Given the description of an element on the screen output the (x, y) to click on. 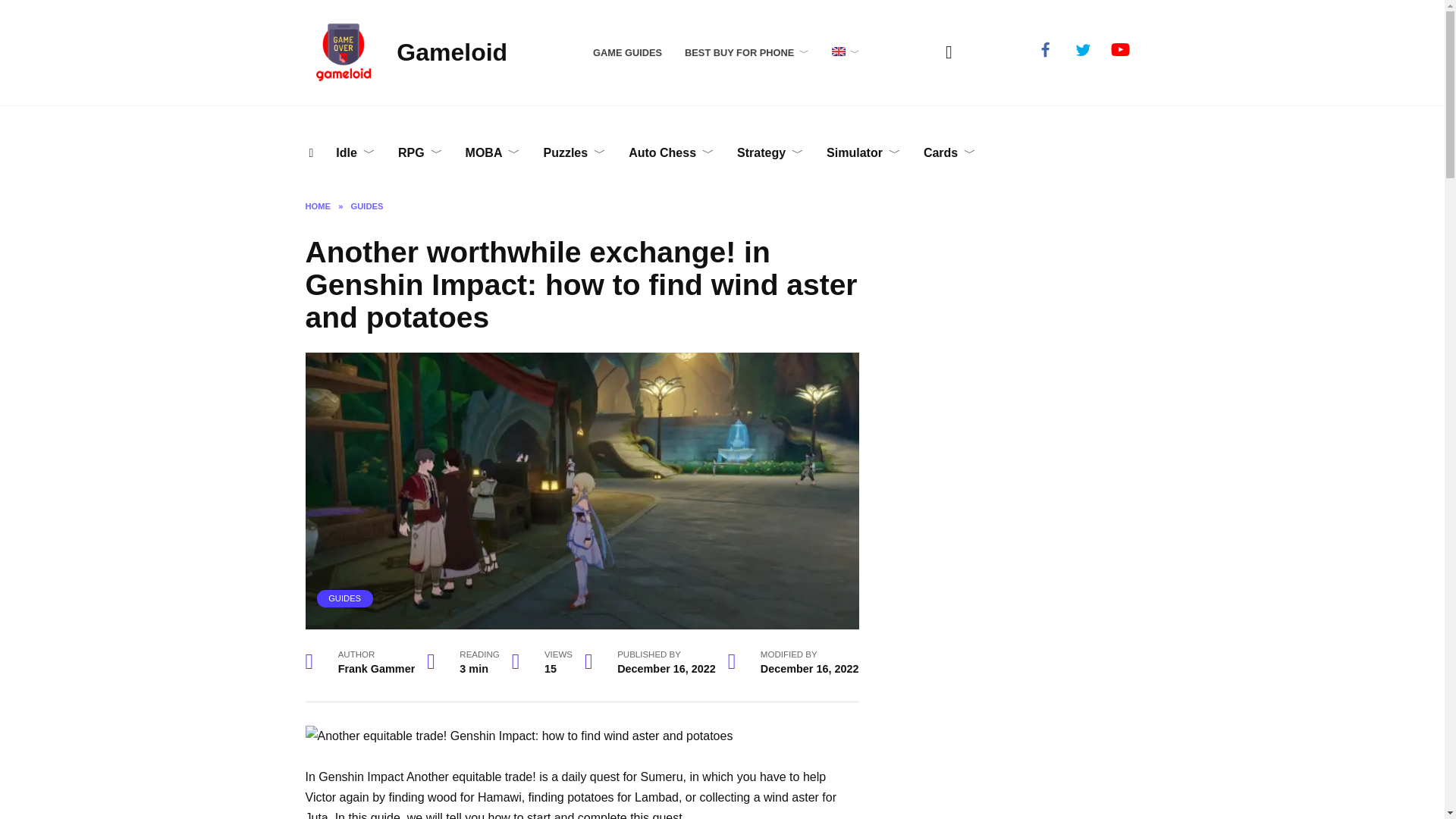
Gameloid (451, 52)
Idle (355, 152)
Simulator (863, 152)
MOBA (493, 152)
Strategy (770, 152)
BEST BUY FOR PHONE (746, 52)
Auto Chess (671, 152)
Cards (949, 152)
GAME GUIDES (627, 52)
Puzzles (574, 152)
RPG (420, 152)
